Given the description of an element on the screen output the (x, y) to click on. 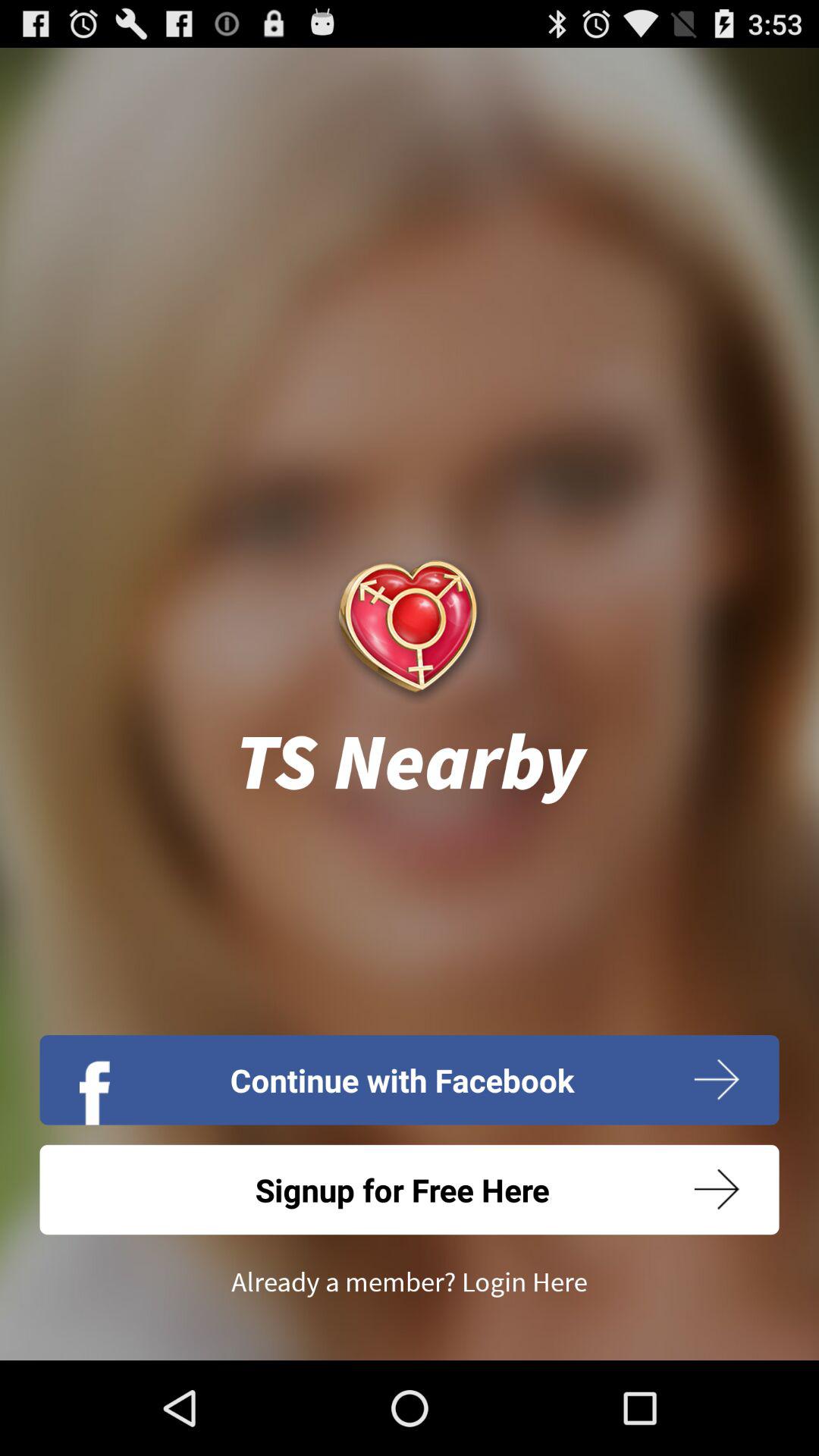
flip until already a member app (409, 1282)
